Given the description of an element on the screen output the (x, y) to click on. 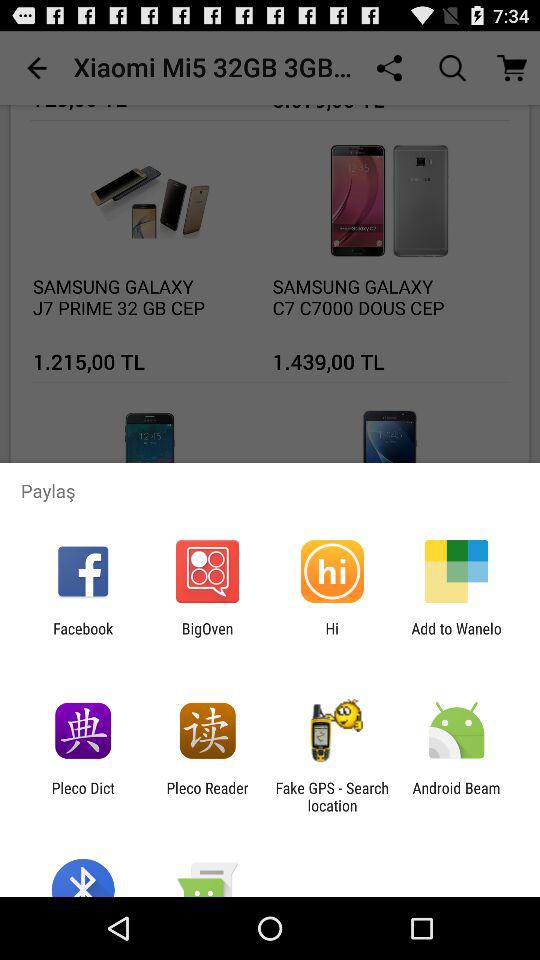
turn on app next to the hi icon (207, 637)
